Given the description of an element on the screen output the (x, y) to click on. 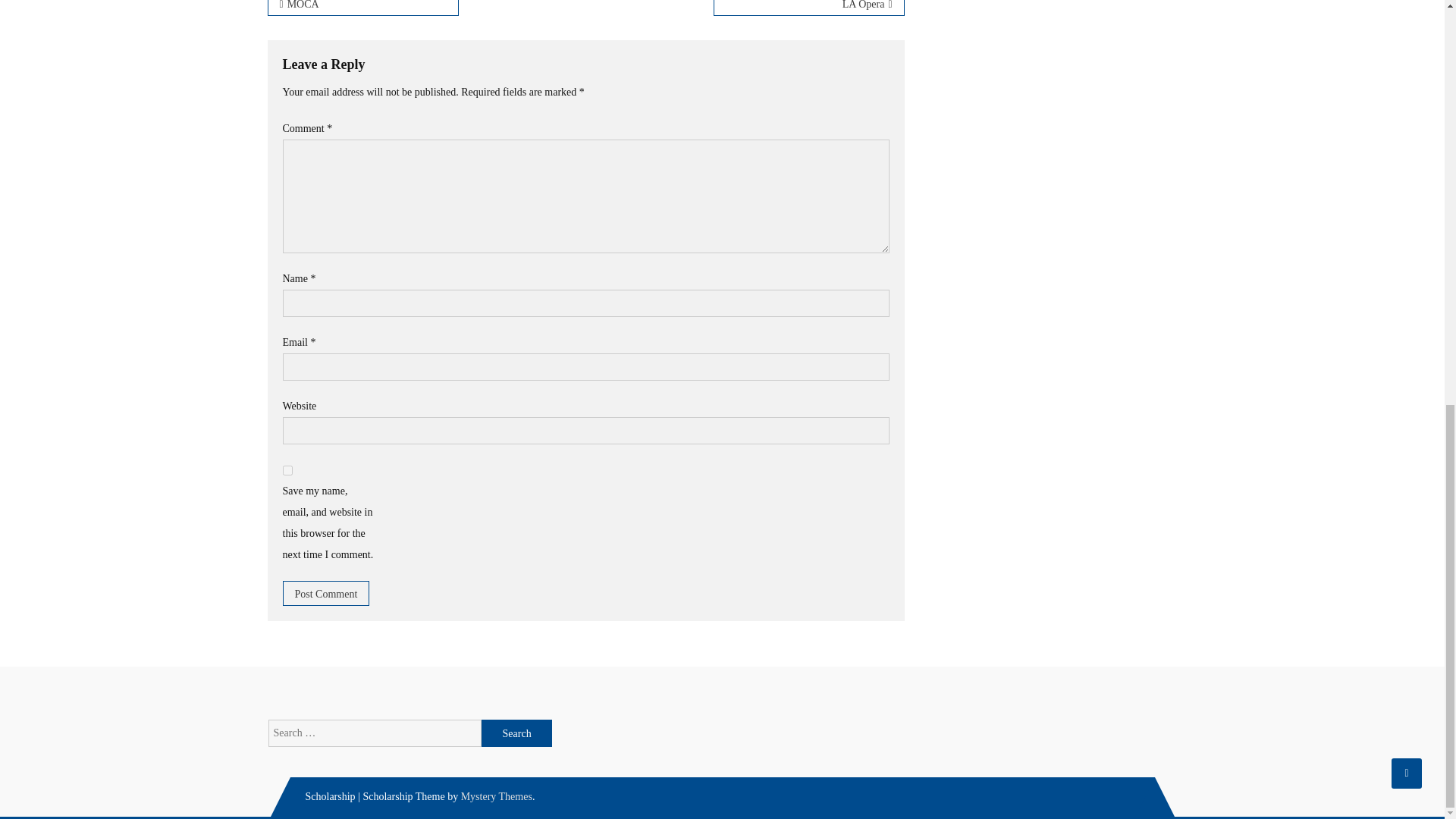
Mystery Themes (496, 796)
Post Comment (325, 593)
Search (517, 732)
MOCA (362, 7)
LA Opera (808, 7)
yes (287, 470)
Search (517, 732)
Search (517, 732)
Post Comment (325, 593)
